Given the description of an element on the screen output the (x, y) to click on. 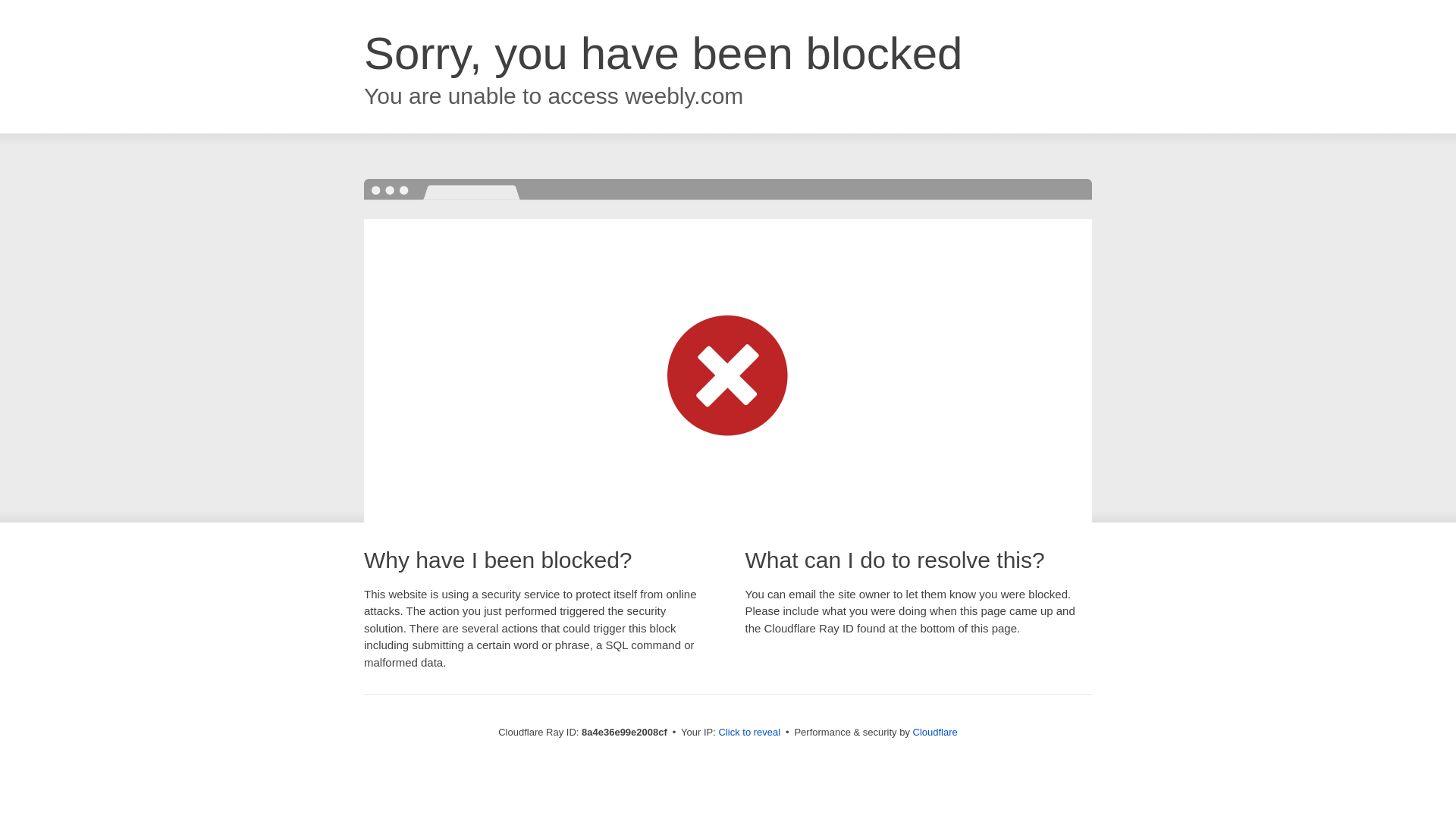
Cloudflare (935, 731)
Click to reveal (749, 732)
